Given the description of an element on the screen output the (x, y) to click on. 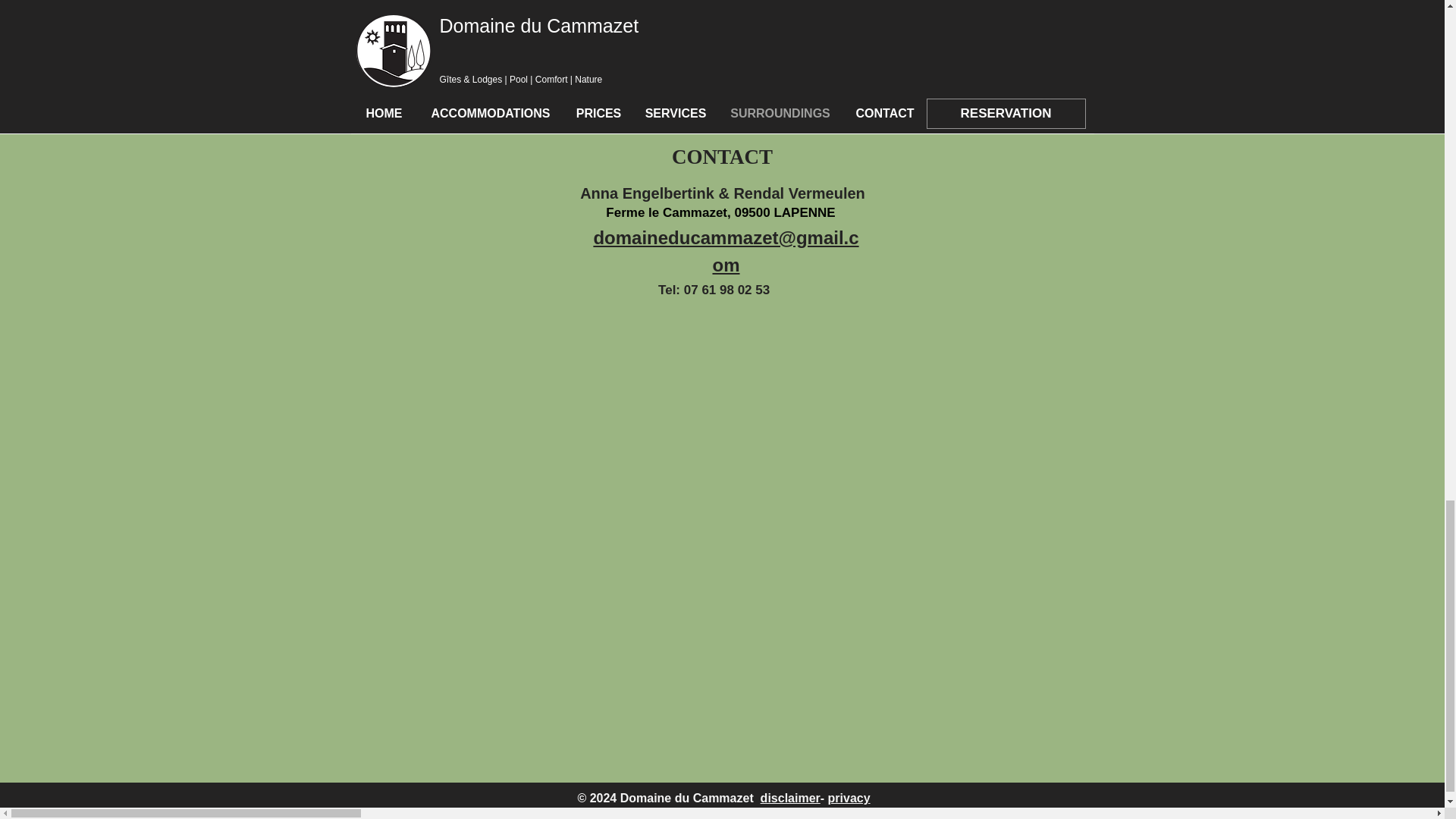
Tel: 07 61 98 02 53  (715, 289)
